Given the description of an element on the screen output the (x, y) to click on. 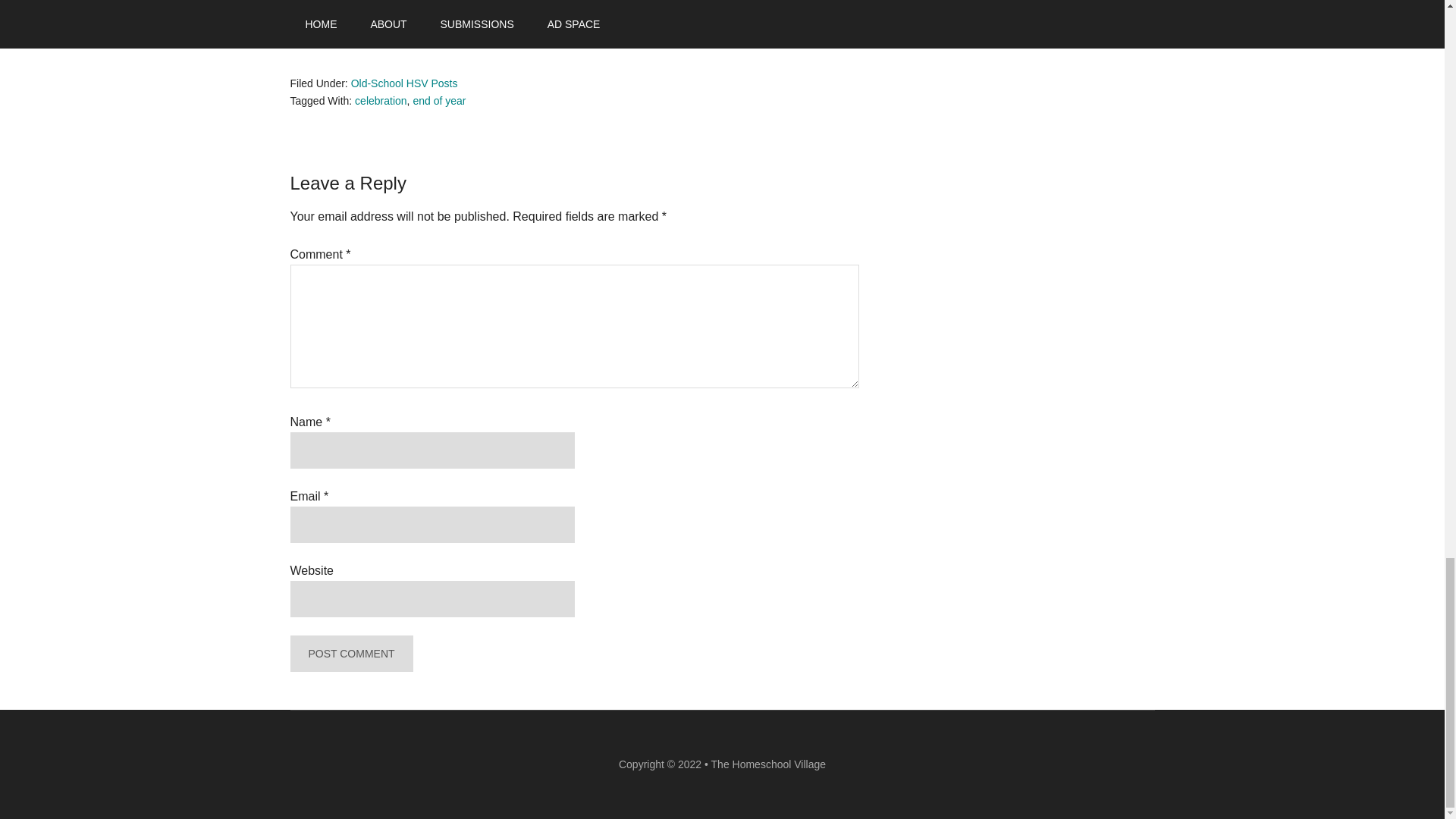
Post Comment (350, 653)
Old-School HSV Posts (404, 82)
end of year (438, 101)
Post Comment (350, 653)
celebration (381, 101)
